Given the description of an element on the screen output the (x, y) to click on. 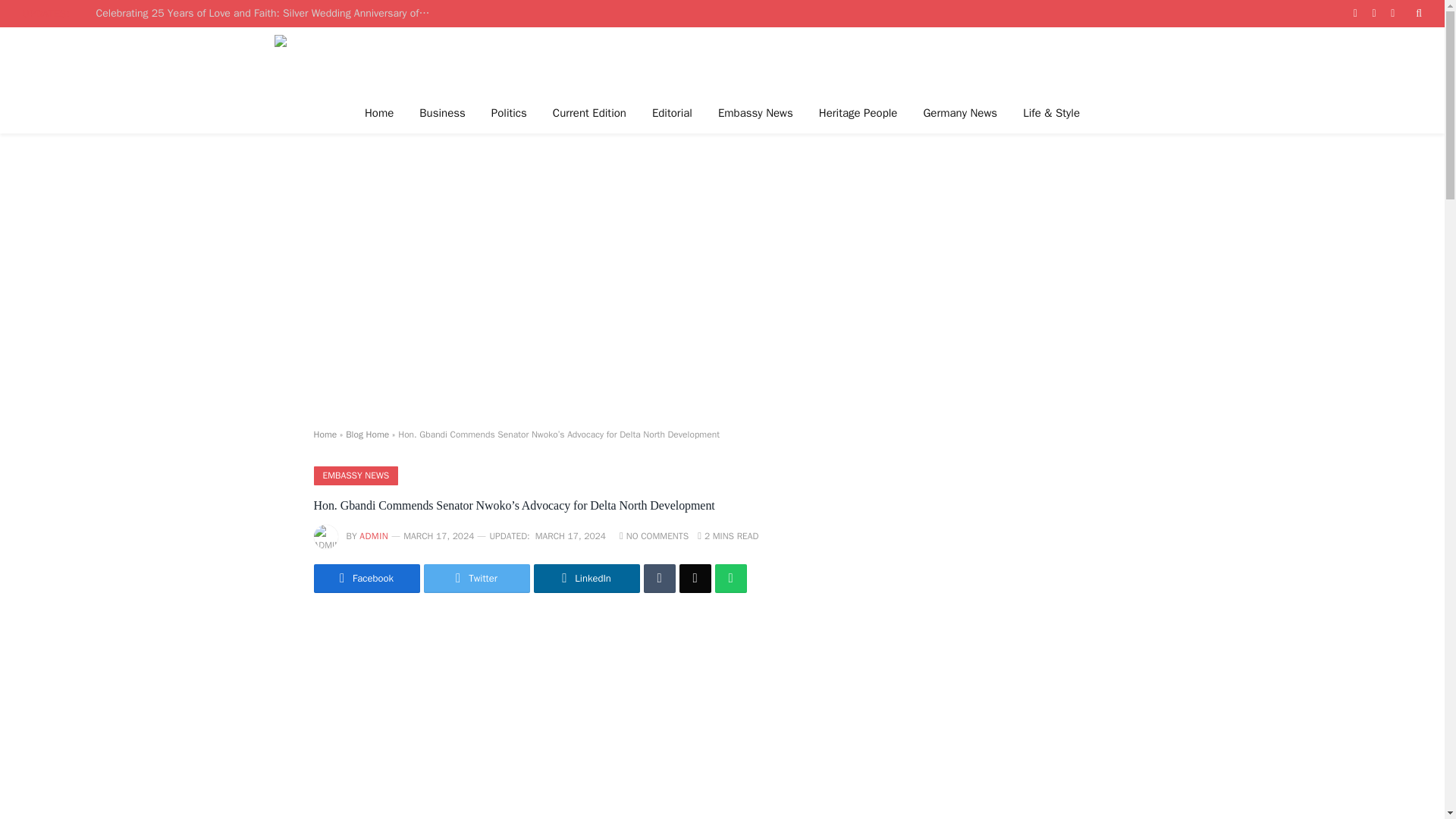
African Heritage Magazine (567, 59)
Posts by admin (373, 535)
